Given the description of an element on the screen output the (x, y) to click on. 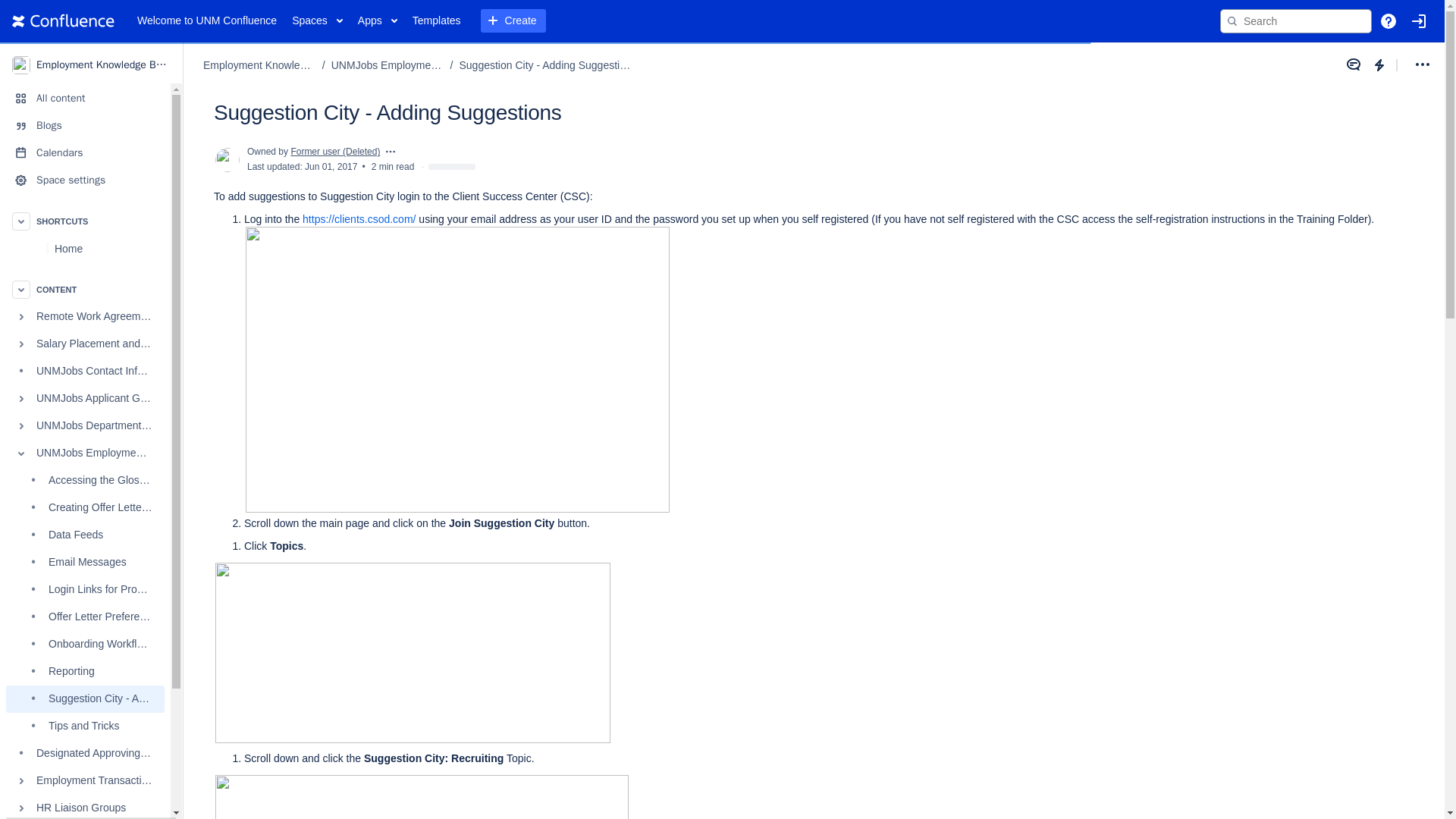
Home (84, 248)
Employment Knowledge Base (90, 64)
Employment Transactions (84, 780)
Apps (377, 21)
UNMJobs Department Hiring Guides (84, 425)
Remote Work Agreement (84, 316)
SHORTCUTS (84, 221)
Templates (436, 21)
Calendars (84, 153)
UNMJobs Employment Area Resources (84, 452)
